Given the description of an element on the screen output the (x, y) to click on. 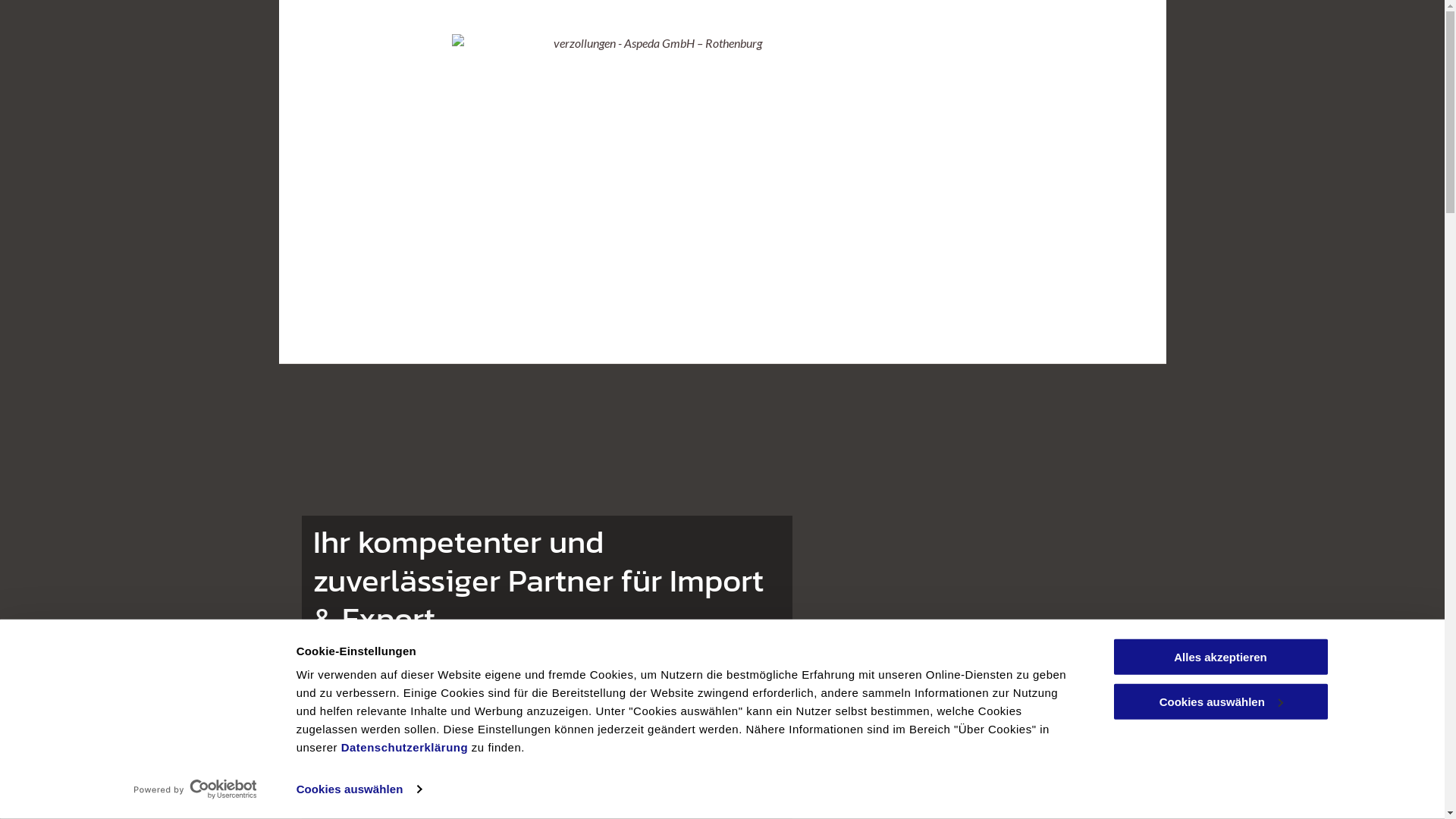
Alles akzeptieren Element type: text (1219, 656)
